Given the description of an element on the screen output the (x, y) to click on. 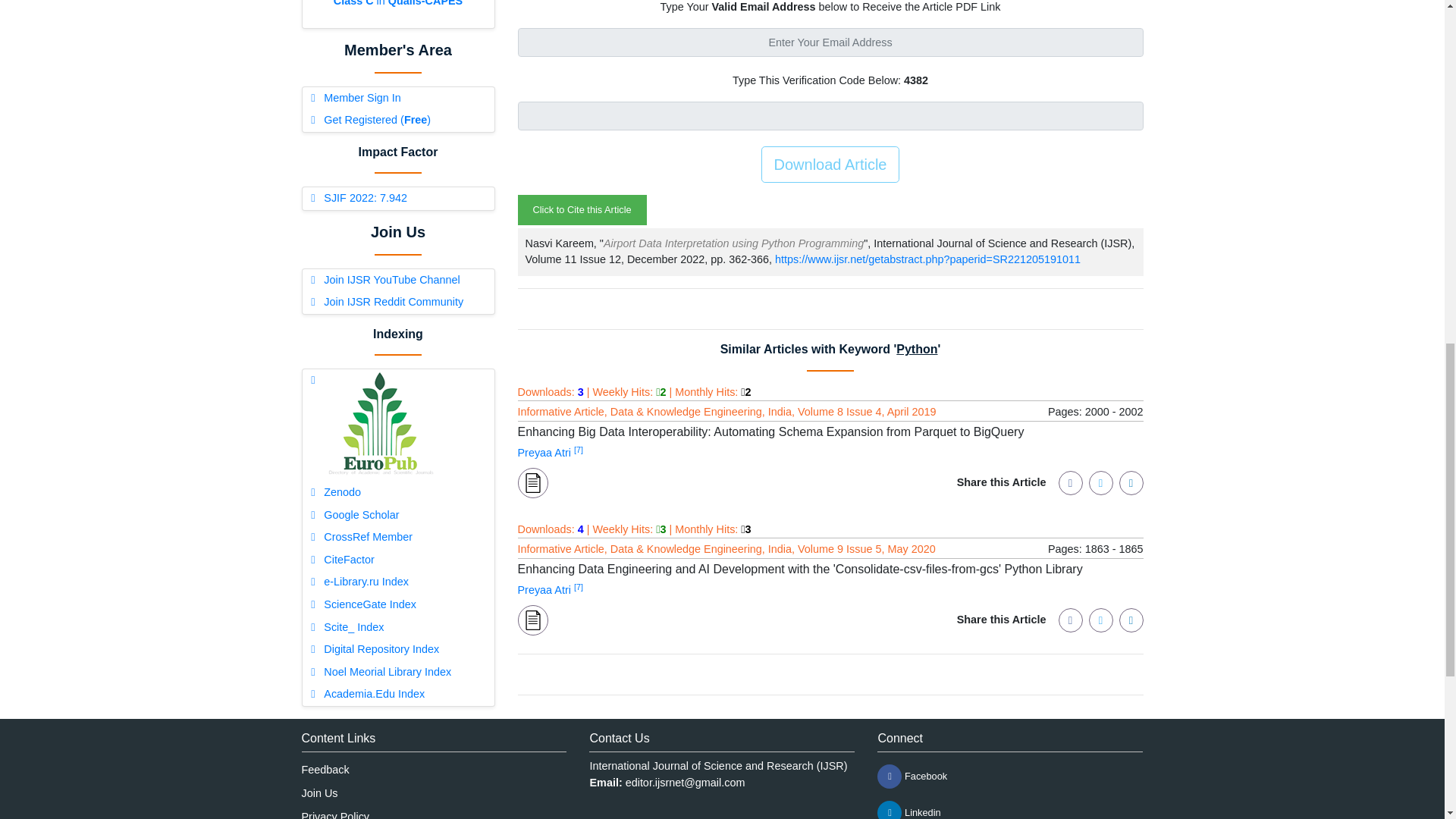
Download Article (830, 164)
